Given the description of an element on the screen output the (x, y) to click on. 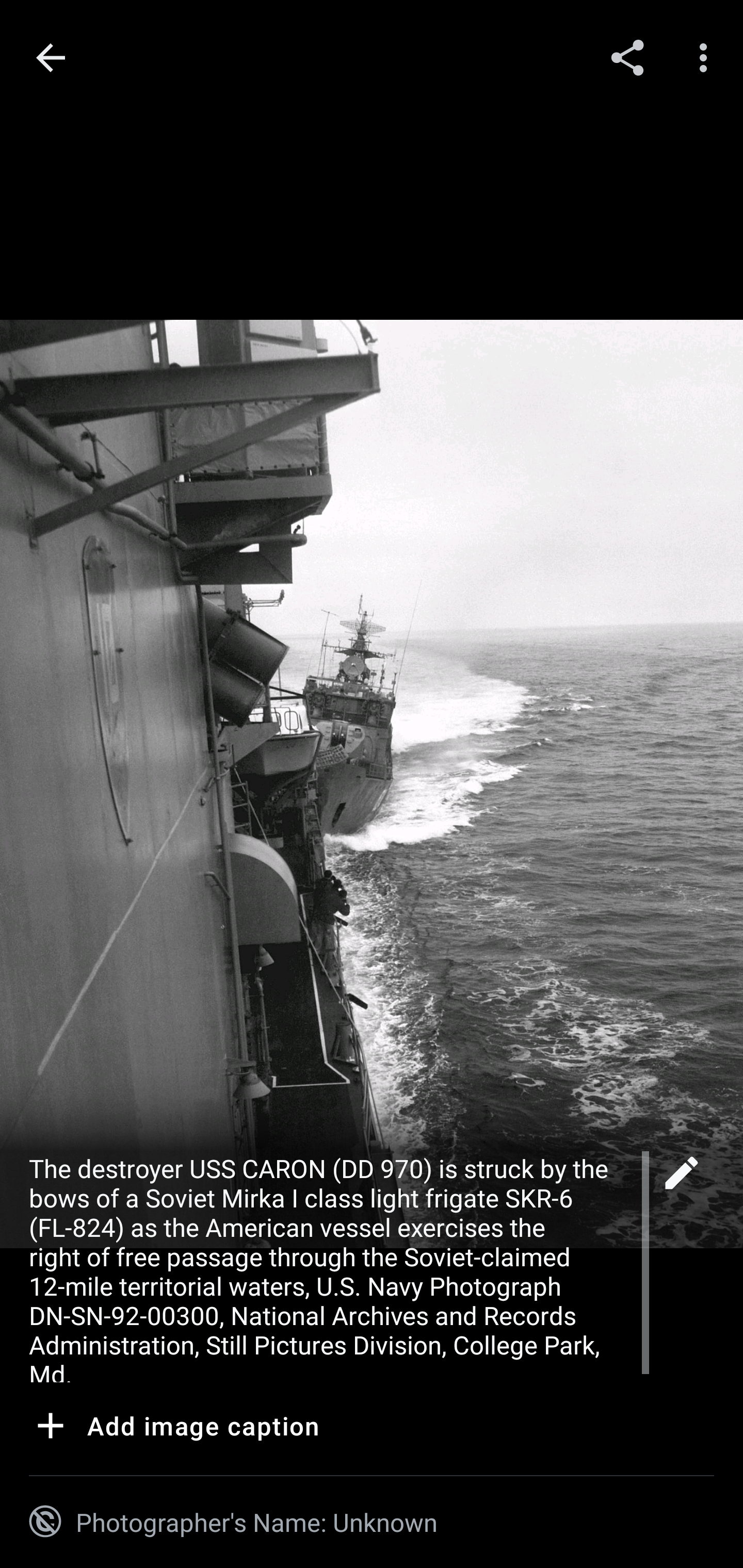
Navigate up (50, 57)
Share (626, 57)
More options (706, 57)
Edit image caption (681, 1177)
Add image caption (174, 1428)
Public domain (44, 1521)
